Given the description of an element on the screen output the (x, y) to click on. 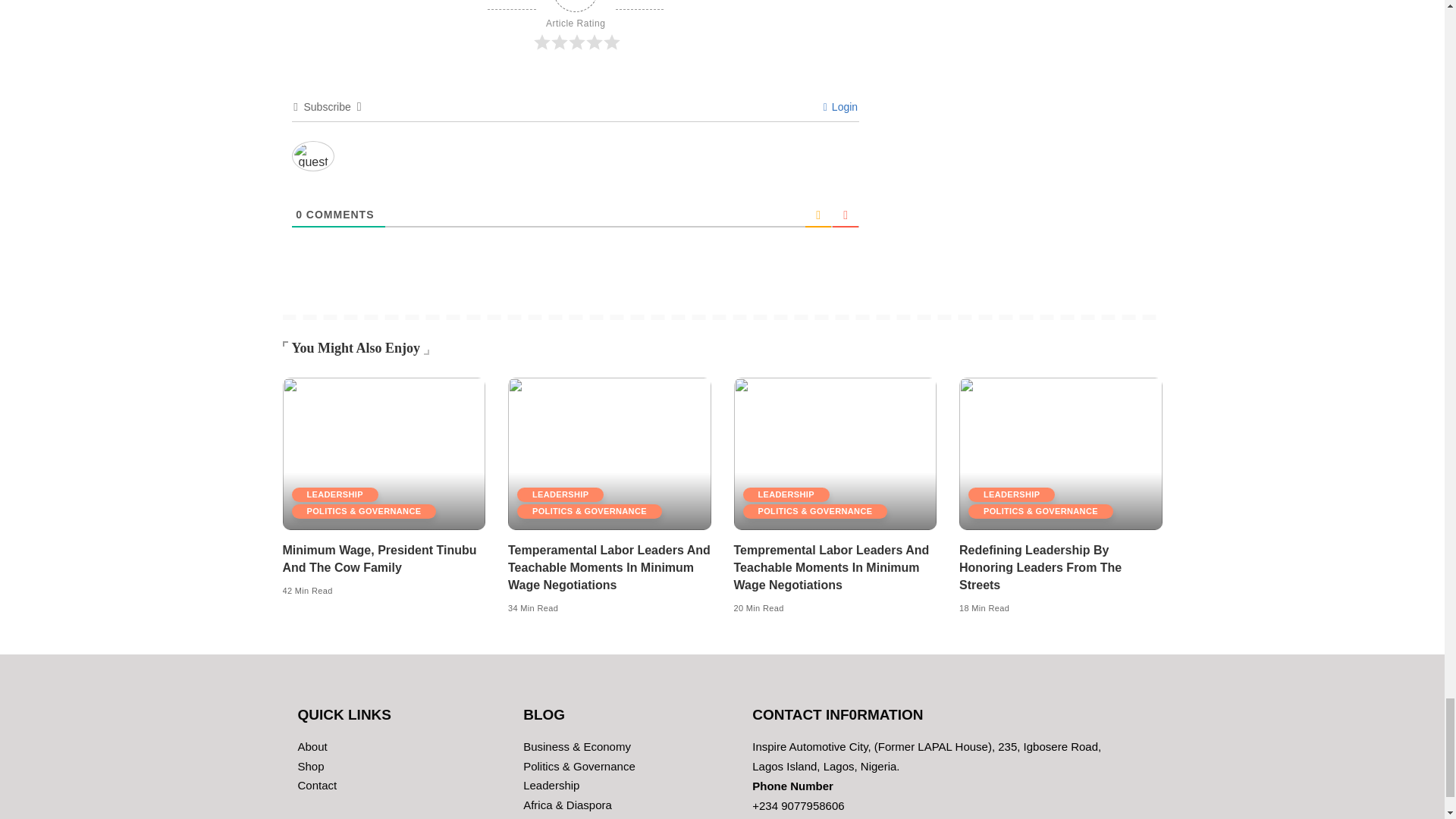
Login (840, 106)
